Given the description of an element on the screen output the (x, y) to click on. 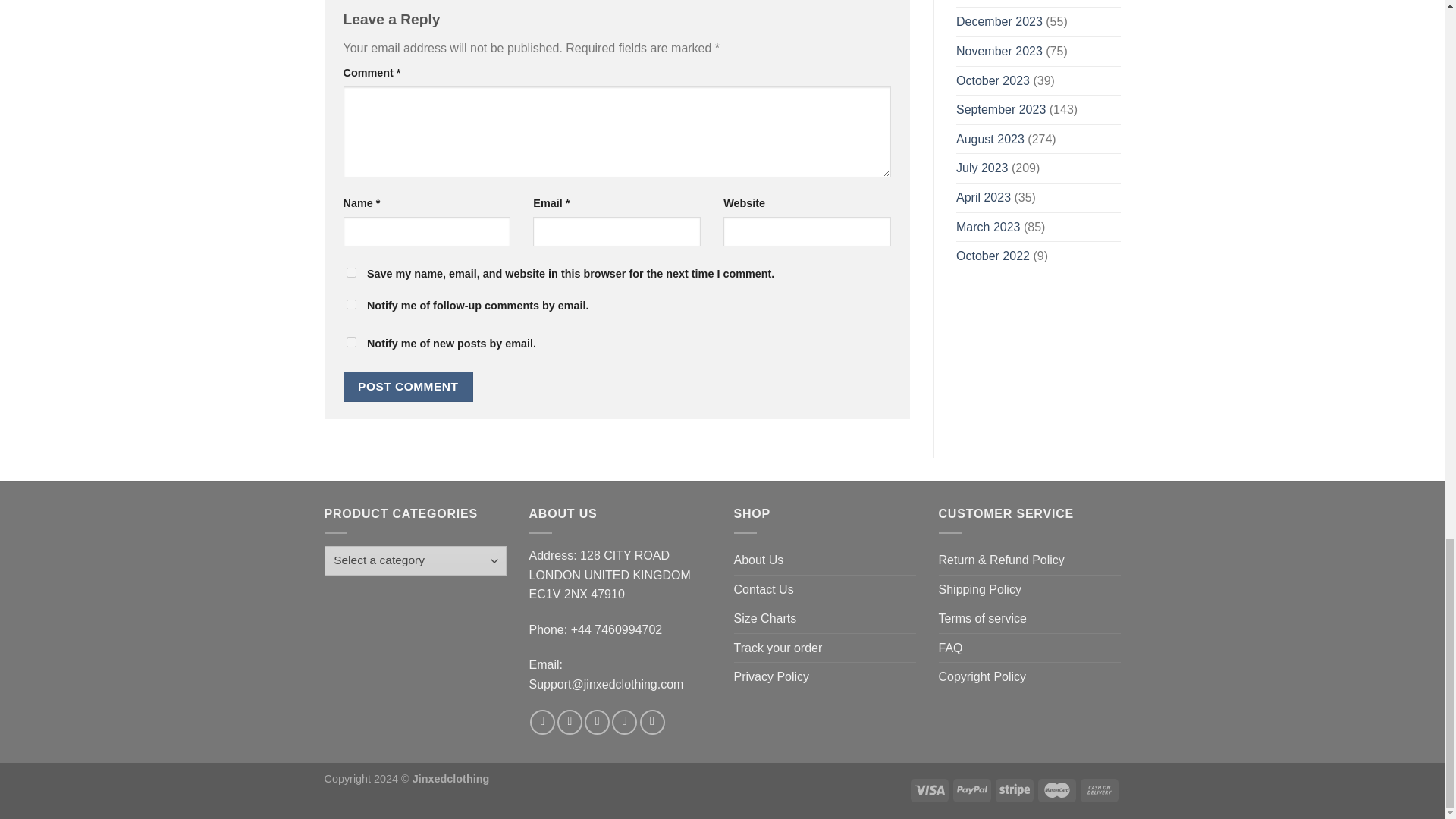
subscribe (350, 342)
Follow on Facebook (541, 722)
Post Comment (407, 386)
yes (350, 272)
subscribe (350, 304)
Post Comment (407, 386)
